Given the description of an element on the screen output the (x, y) to click on. 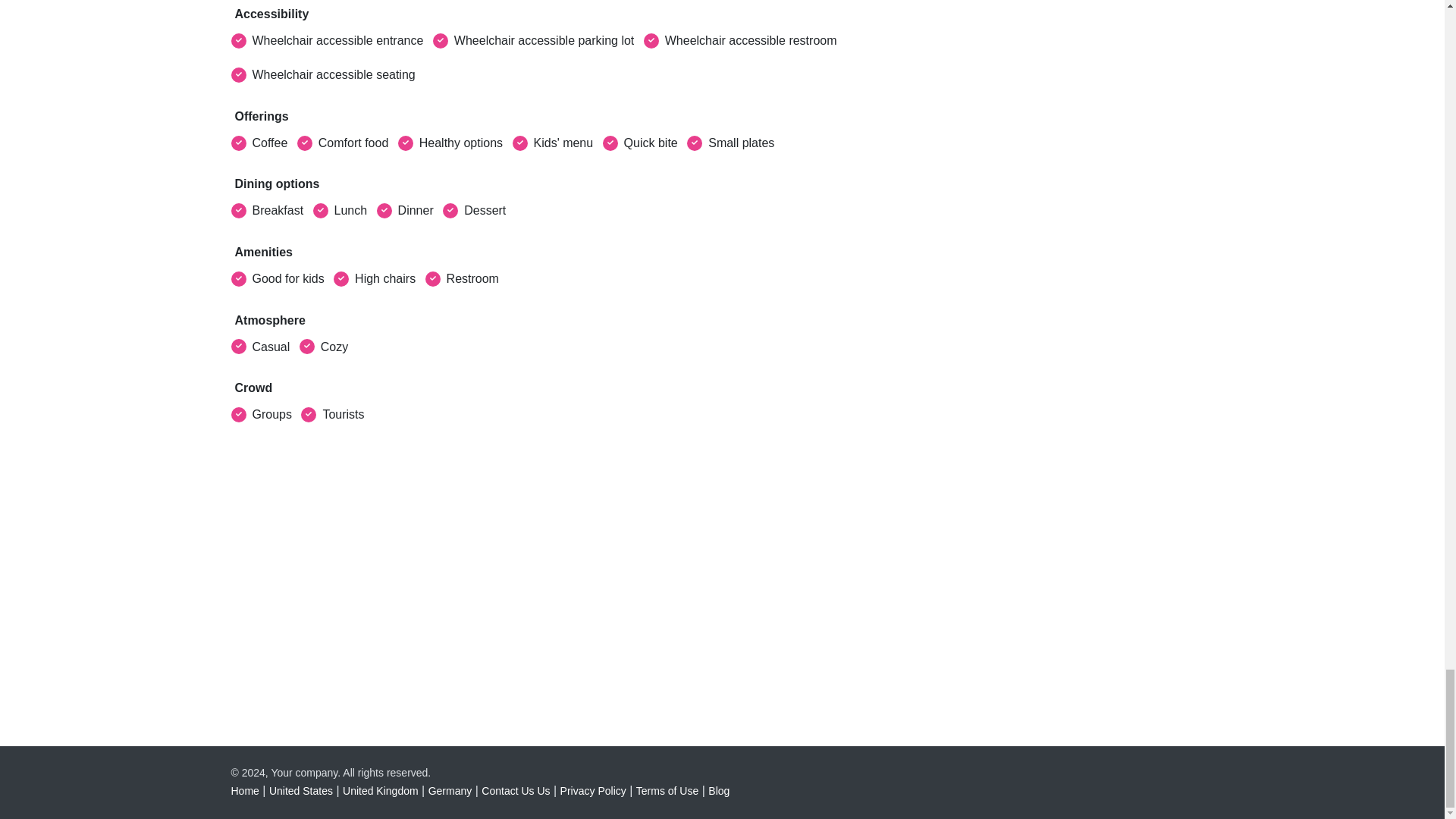
Contact Us Us (515, 790)
United Kingdom (380, 790)
Germany (449, 790)
United States (301, 790)
Home (244, 790)
Terms of Use (667, 790)
Privacy Policy (593, 790)
Blog (718, 790)
